Given the description of an element on the screen output the (x, y) to click on. 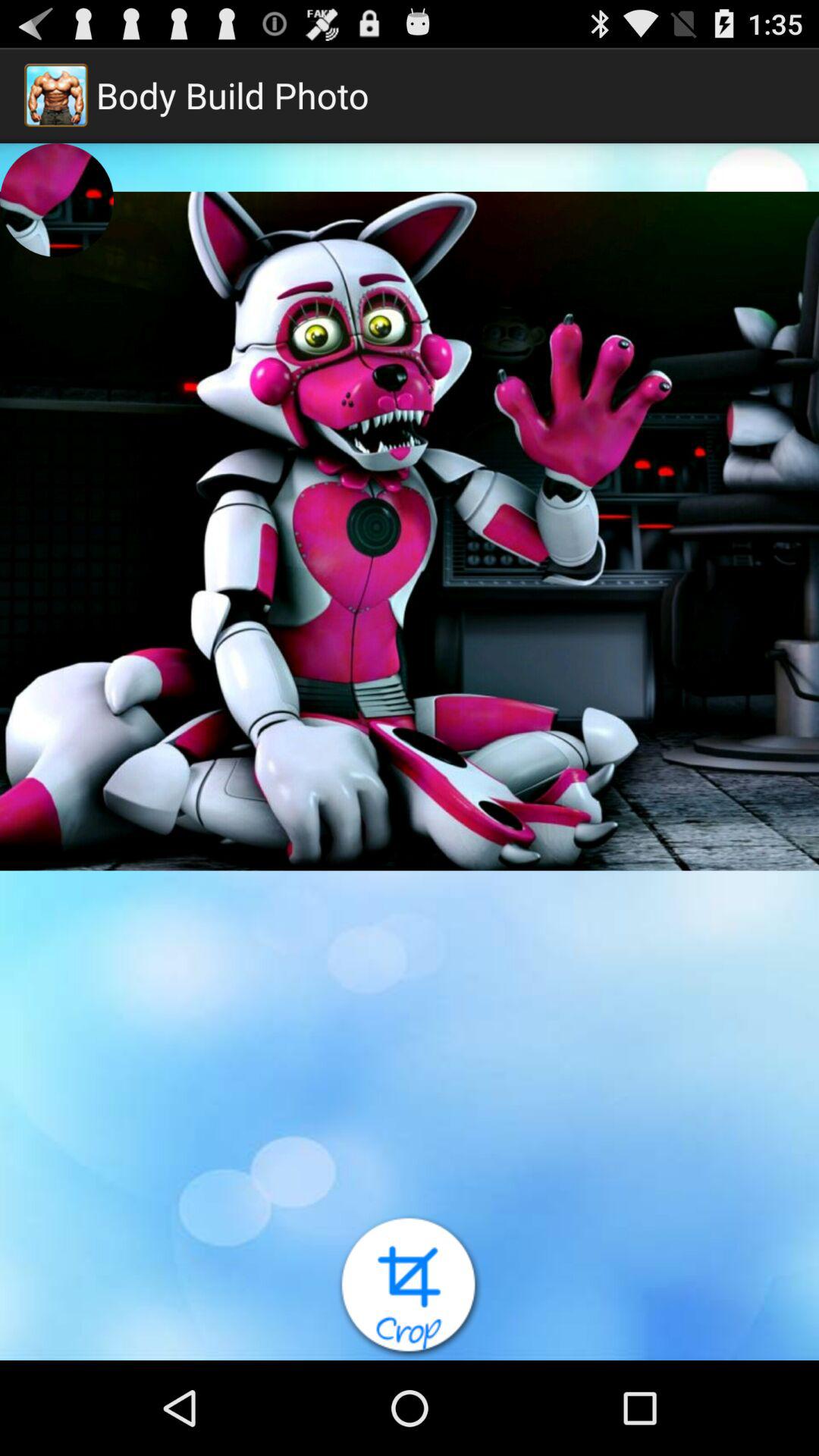
crop picture (409, 1287)
